Given the description of an element on the screen output the (x, y) to click on. 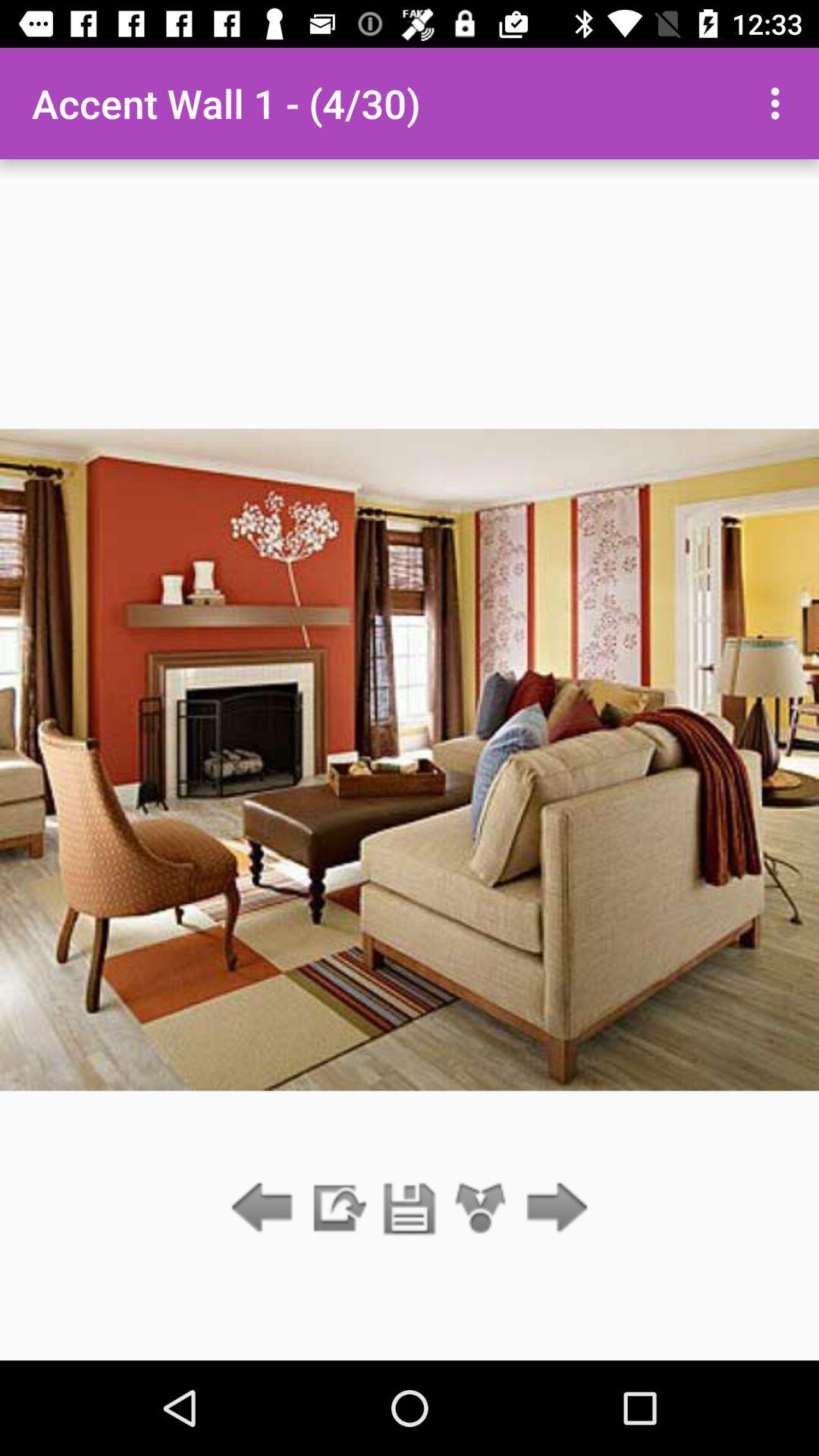
save image (409, 1208)
